Given the description of an element on the screen output the (x, y) to click on. 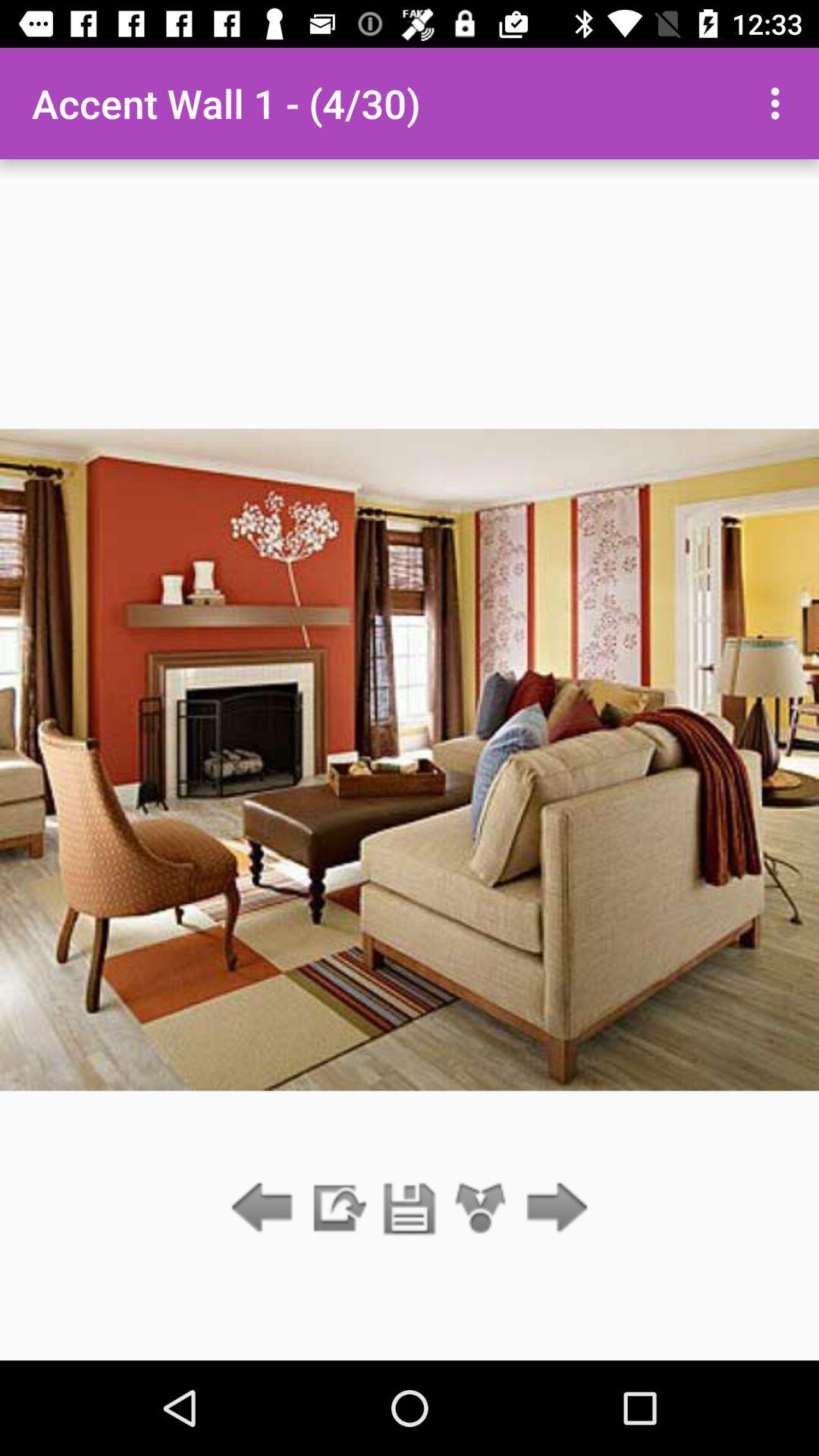
save image (409, 1208)
